Given the description of an element on the screen output the (x, y) to click on. 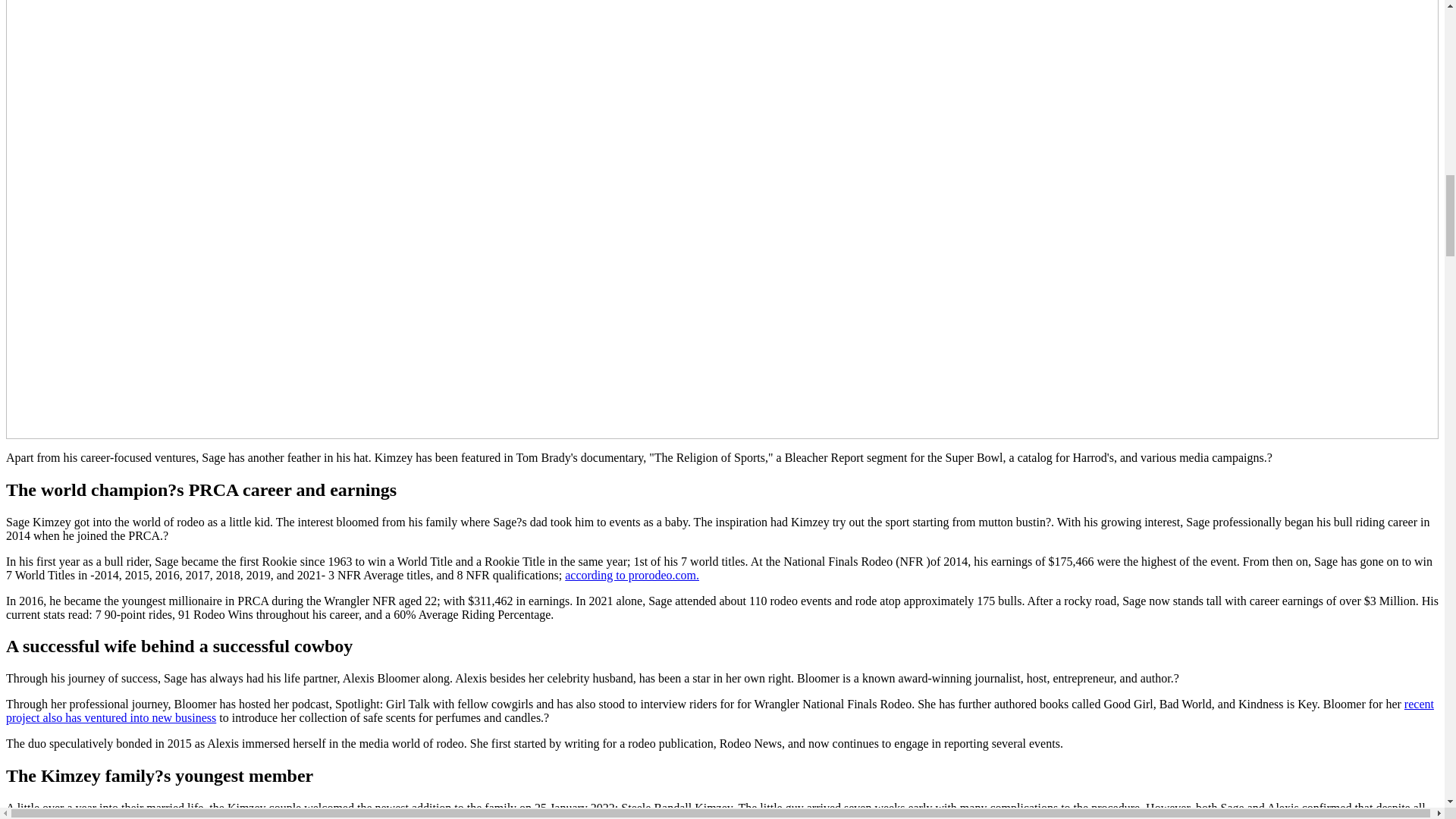
recent project also has ventured into new business (719, 710)
according to prorodeo.com. (631, 574)
